Given the description of an element on the screen output the (x, y) to click on. 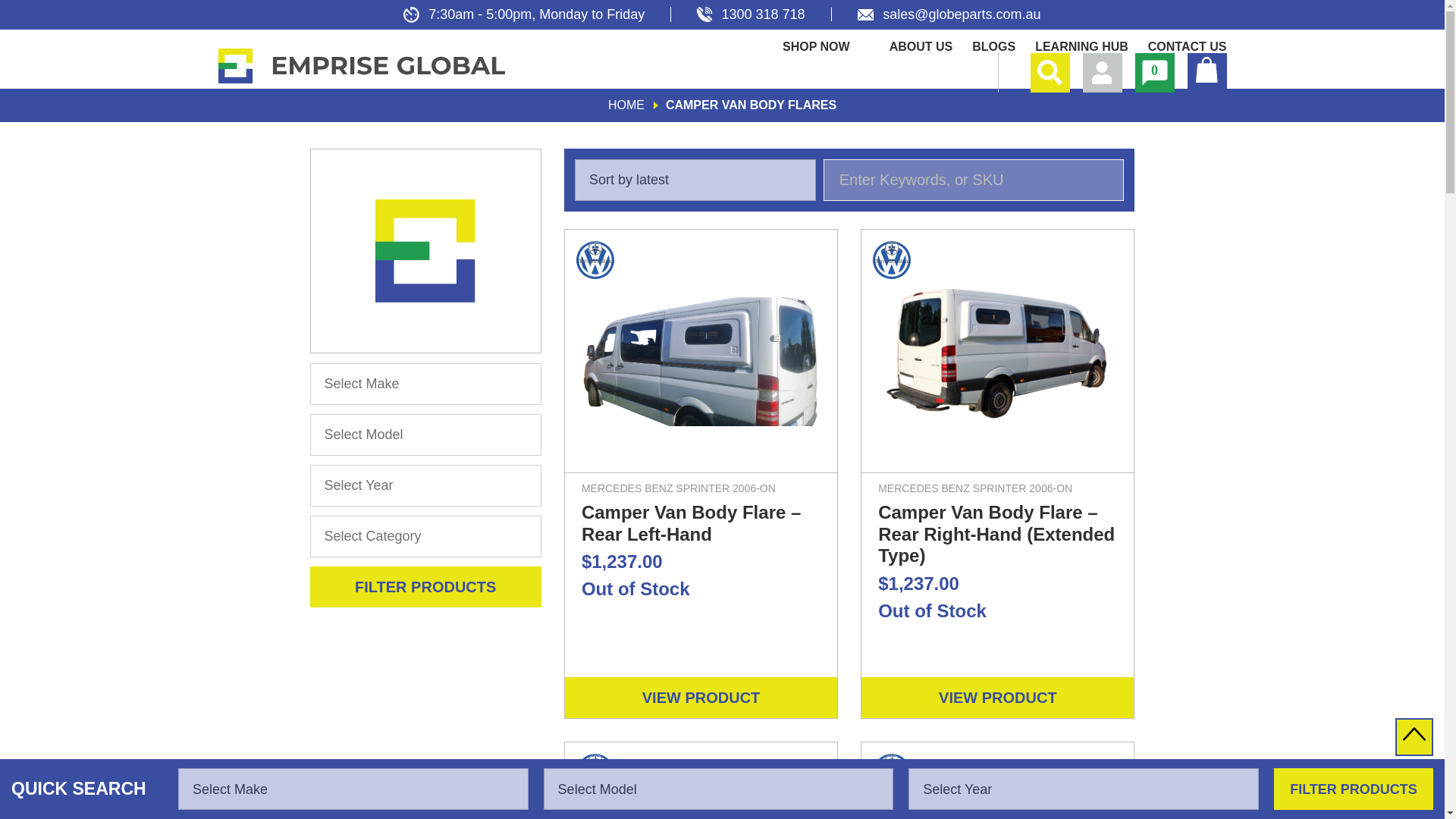
FILTER PRODUCTS (424, 586)
1300 318 718 (751, 14)
SHOP NOW (816, 46)
FILTER PRODUCTS (1353, 788)
CONTACT US (1187, 46)
0 (1153, 72)
LEARNING HUB (1081, 46)
HOME (626, 104)
BLOGS (993, 46)
ABOUT US (921, 46)
0 (1153, 72)
